Given the description of an element on the screen output the (x, y) to click on. 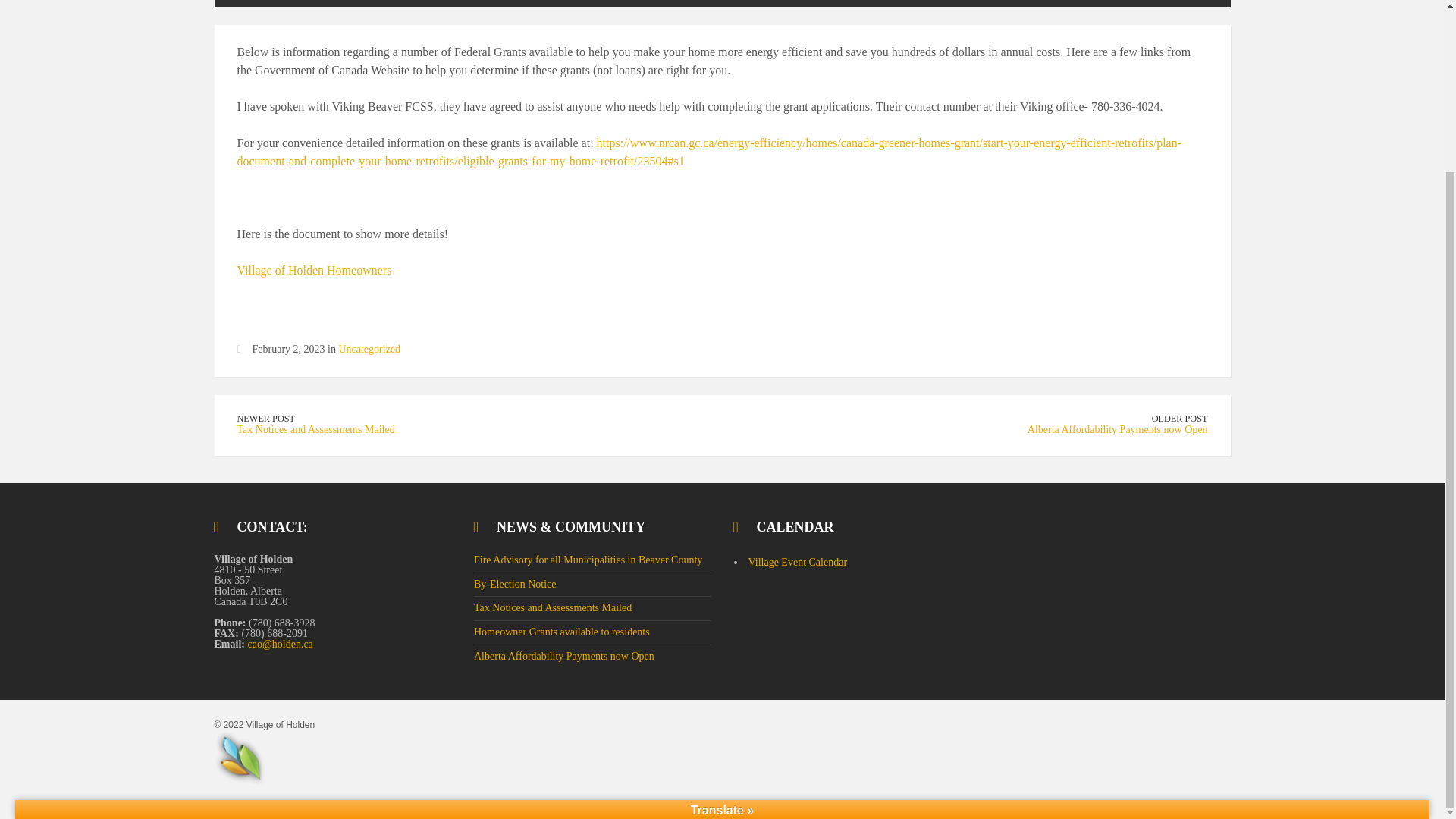
Village Event Calendar (797, 562)
